Given the description of an element on the screen output the (x, y) to click on. 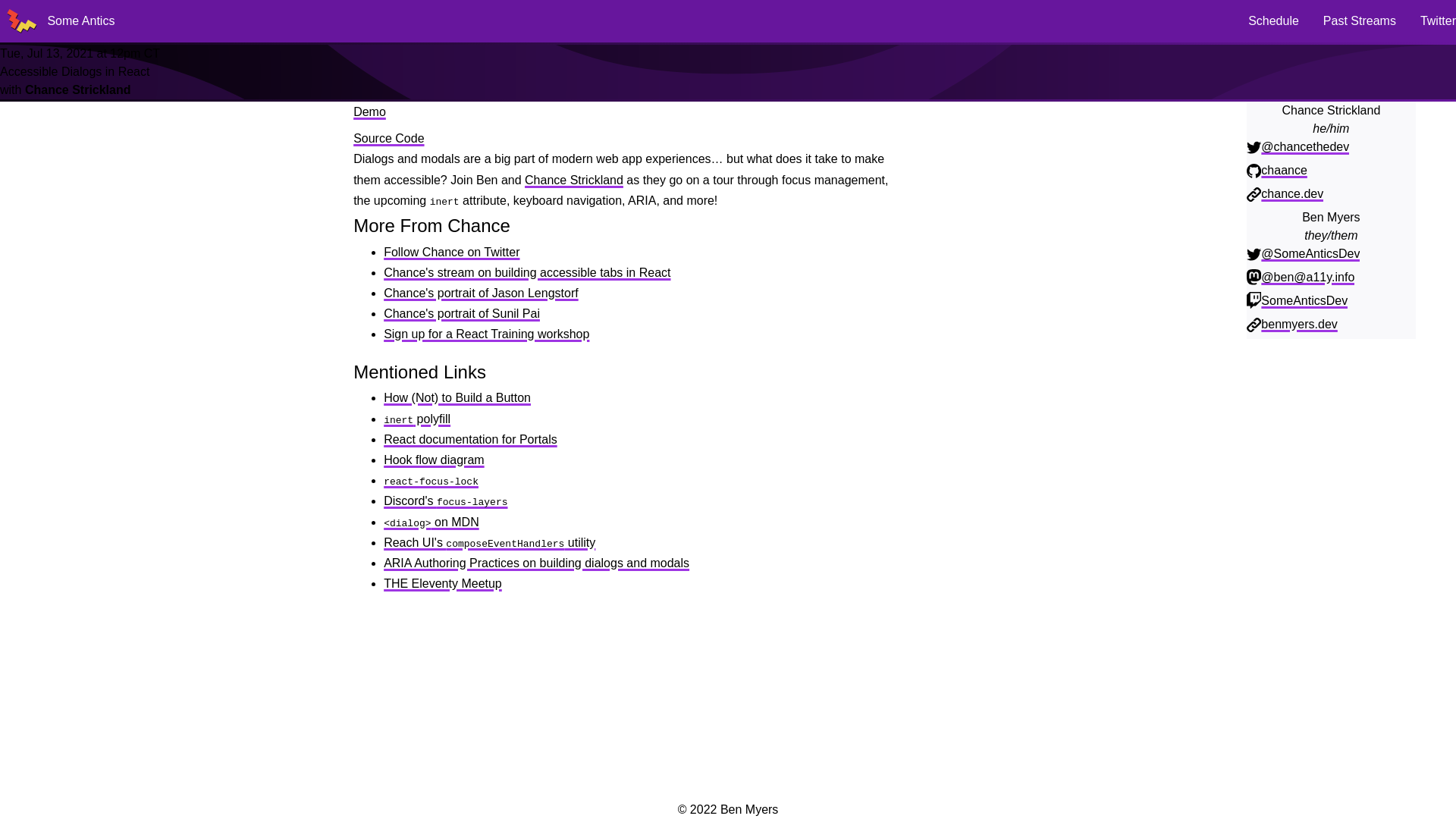
Follow Chance on Twitter (451, 251)
Sign up for a React Training workshop (486, 333)
Schedule (1272, 20)
React documentation for Portals (470, 439)
Hook flow diagram (434, 459)
Reach UI's composeEventHandlers utility (489, 542)
THE Eleventy Meetup (443, 583)
Past Streams (1359, 20)
ARIA Authoring Practices on building dialogs and modals (536, 562)
SomeAnticsDev (1304, 300)
